Given the description of an element on the screen output the (x, y) to click on. 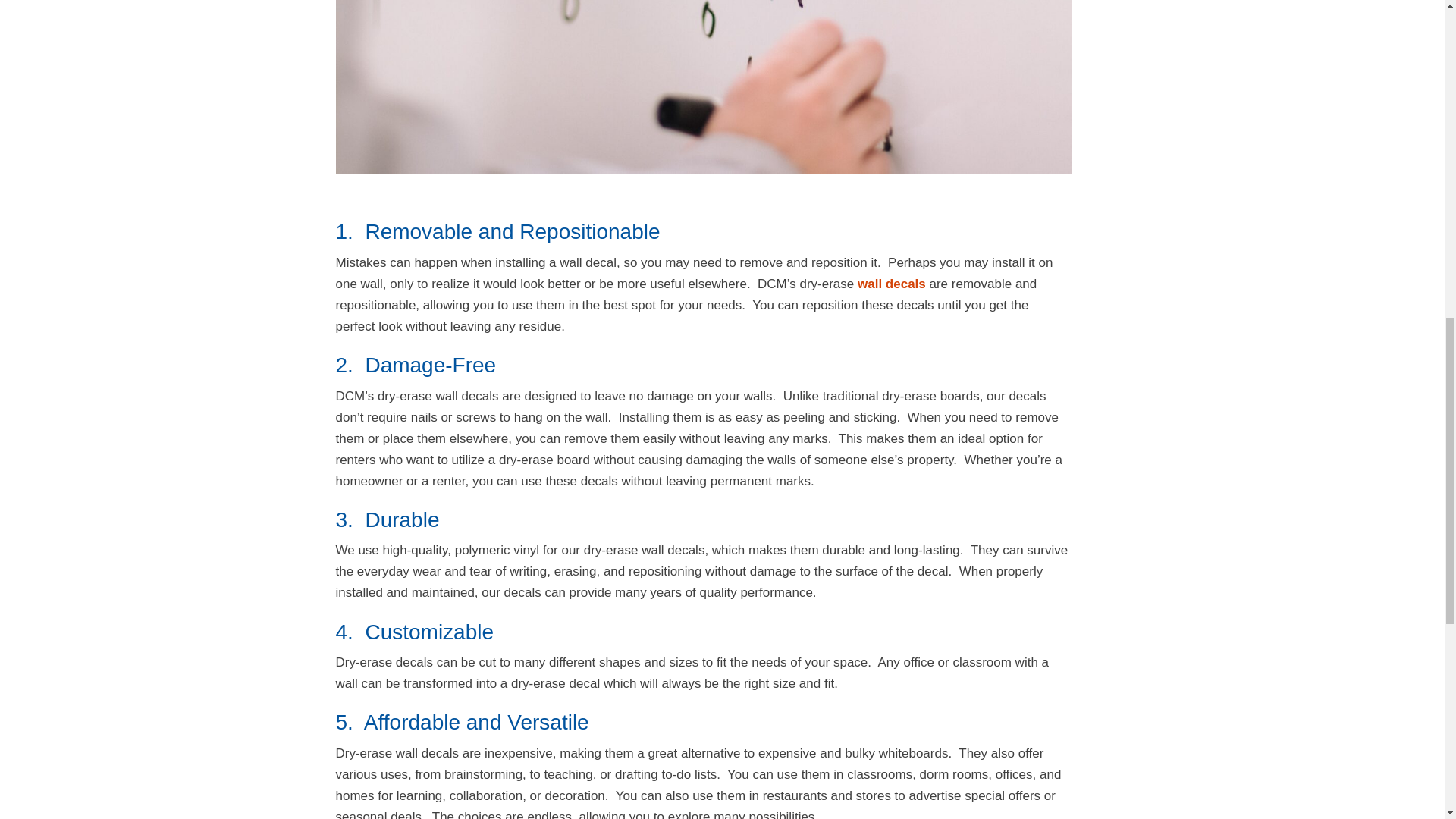
wall decals (891, 283)
